Given the description of an element on the screen output the (x, y) to click on. 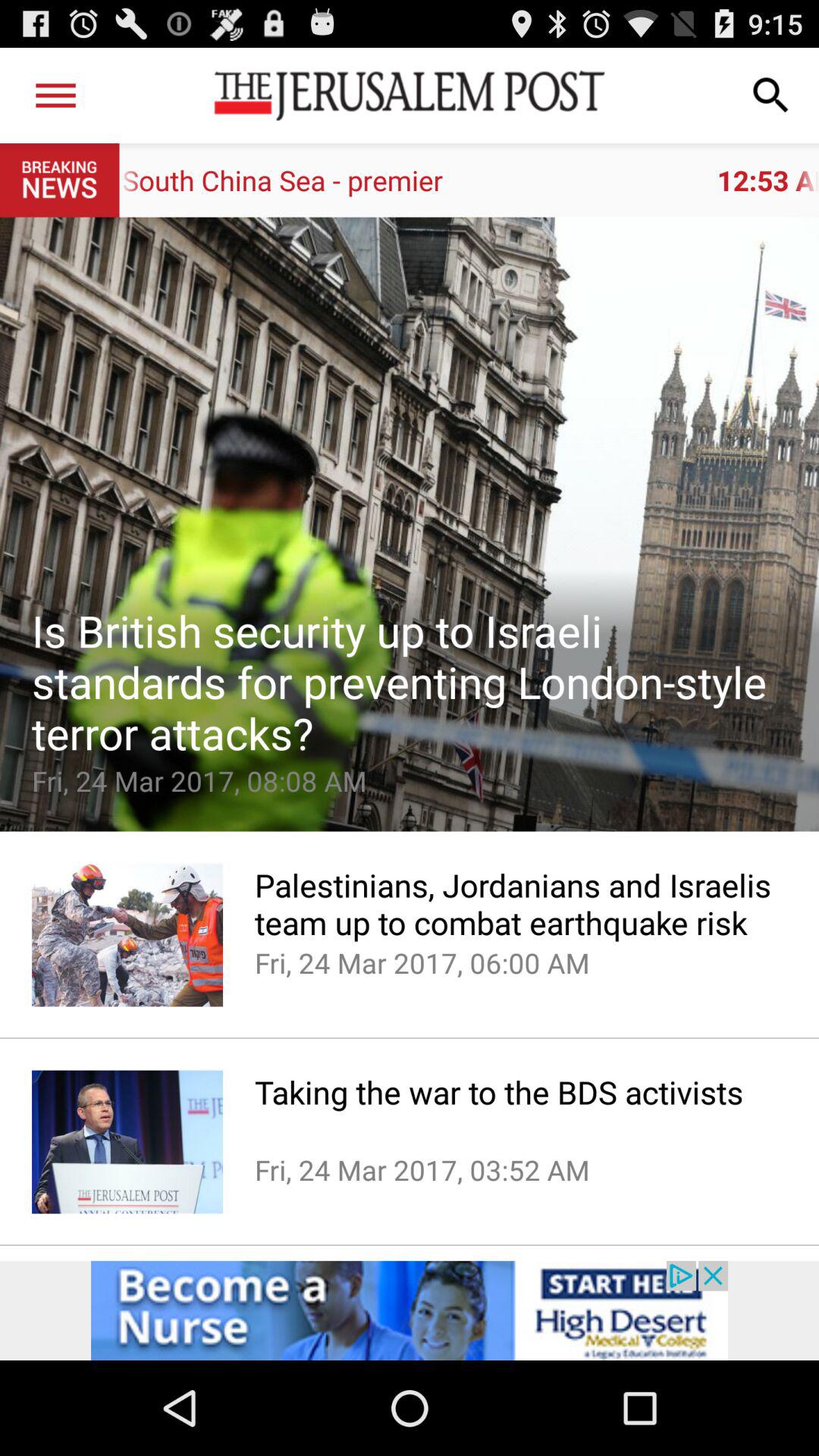
choose item above 12 53 am (771, 95)
